Given the description of an element on the screen output the (x, y) to click on. 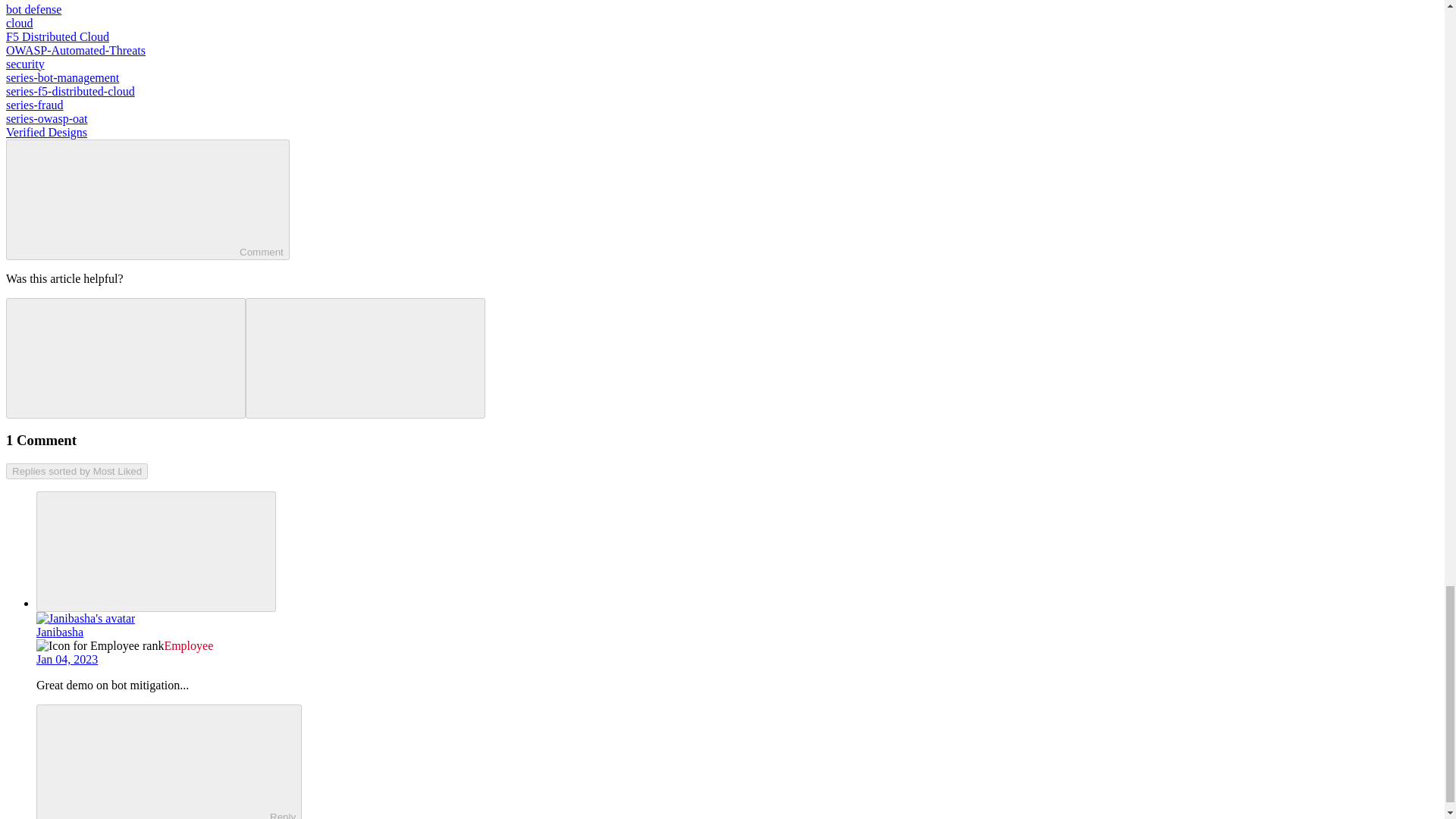
Comment (125, 197)
F5 Distributed Cloud (57, 36)
bot defense (33, 9)
series-bot-management (62, 77)
cloud (19, 22)
January 4, 2023 at 3:37 PM (66, 658)
security (25, 63)
OWASP-Automated-Threats (75, 50)
